Given the description of an element on the screen output the (x, y) to click on. 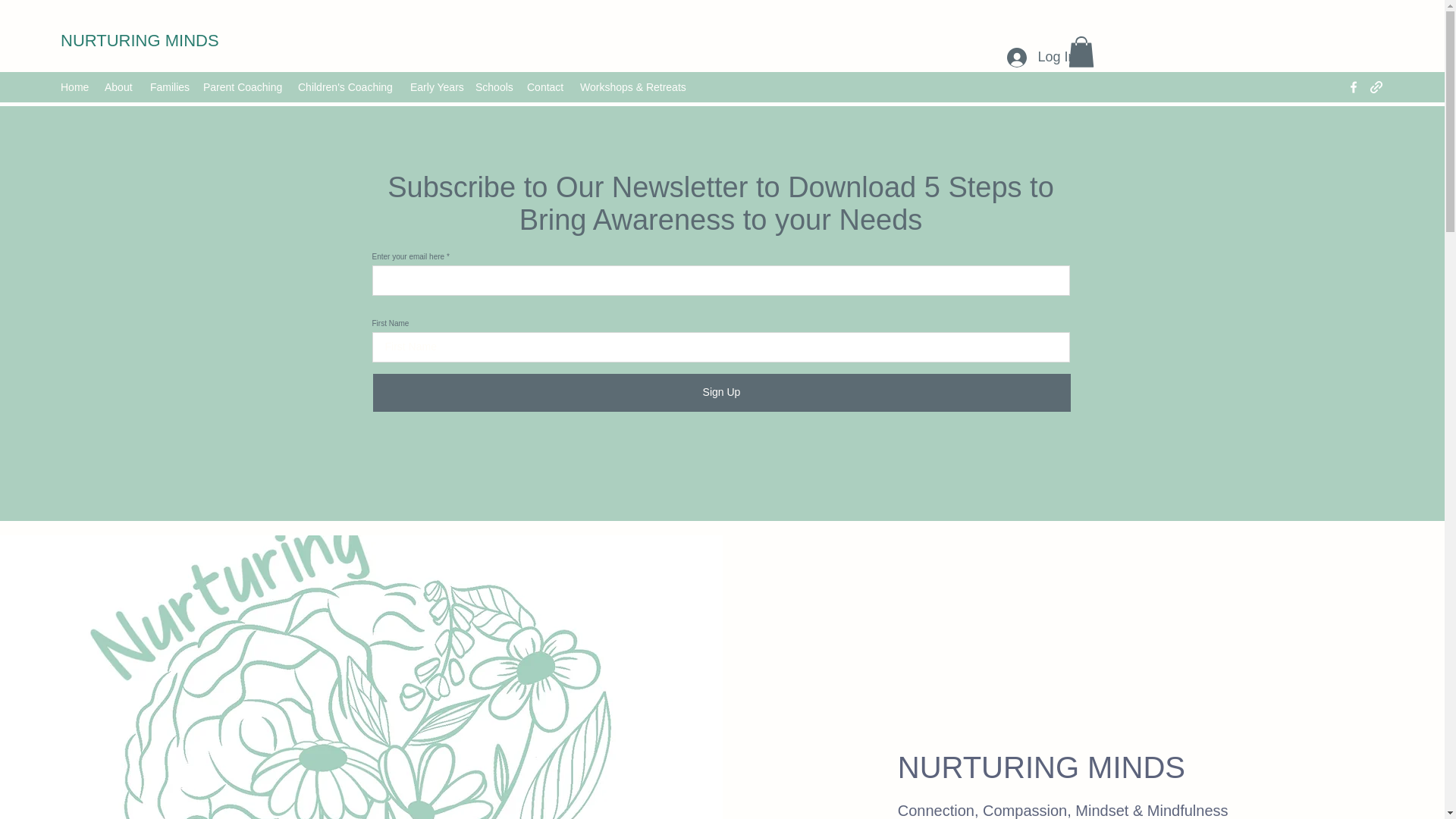
Families (168, 87)
Contact (545, 87)
Children's Coaching (346, 87)
About (119, 87)
Schools (493, 87)
Early Years (435, 87)
Parent Coaching (242, 87)
Home (74, 87)
Log In (1040, 57)
Sign Up (721, 392)
